Given the description of an element on the screen output the (x, y) to click on. 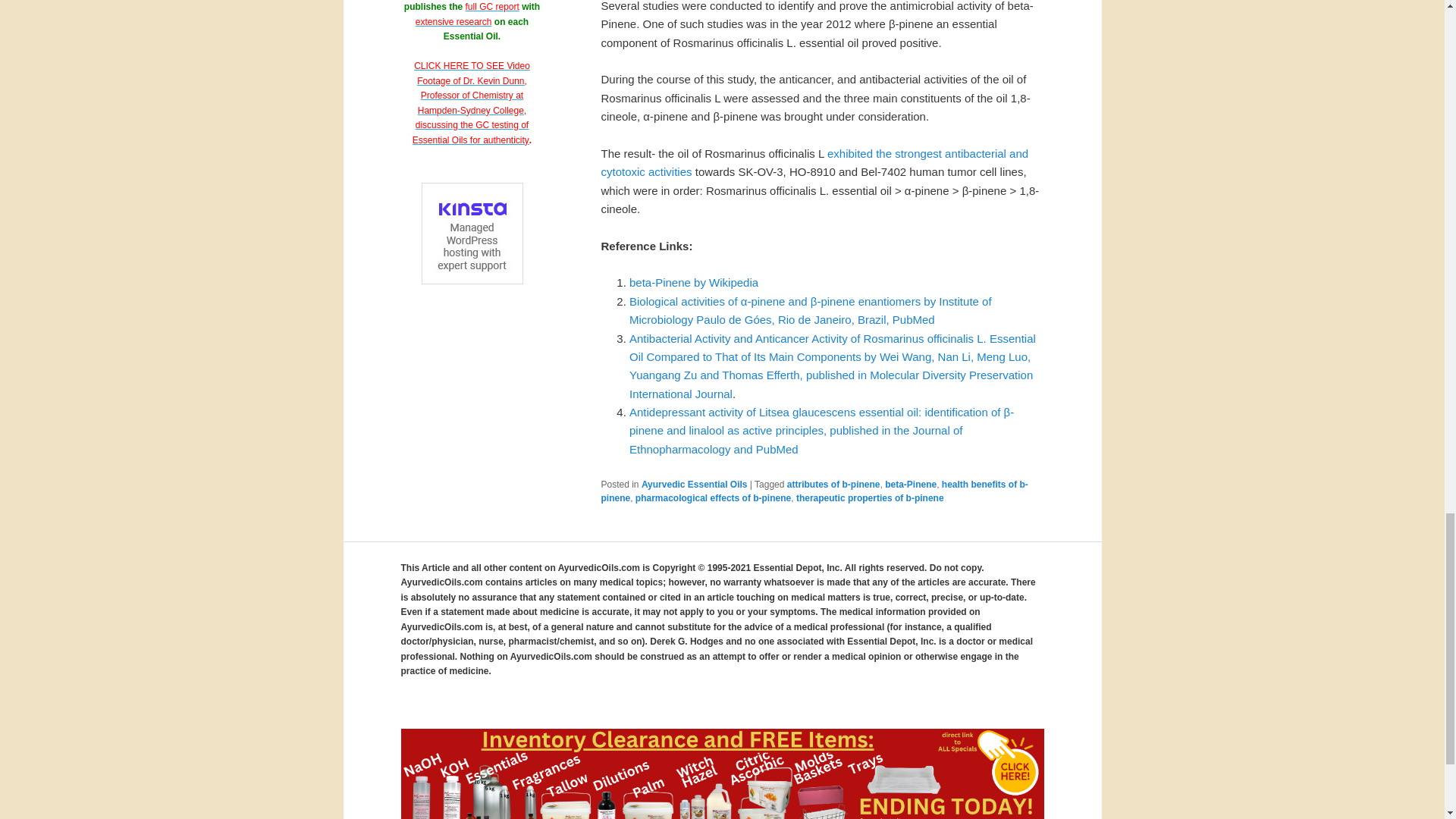
beta-Pinene (910, 484)
health benefits of b-pinene (813, 491)
attributes of b-pinene (833, 484)
pharmacological effects of b-pinene (712, 498)
Ayurvedic Essential Oils (695, 484)
beta-Pinene by Wikipedia (693, 282)
therapeutic properties of b-pinene (869, 498)
